Given the description of an element on the screen output the (x, y) to click on. 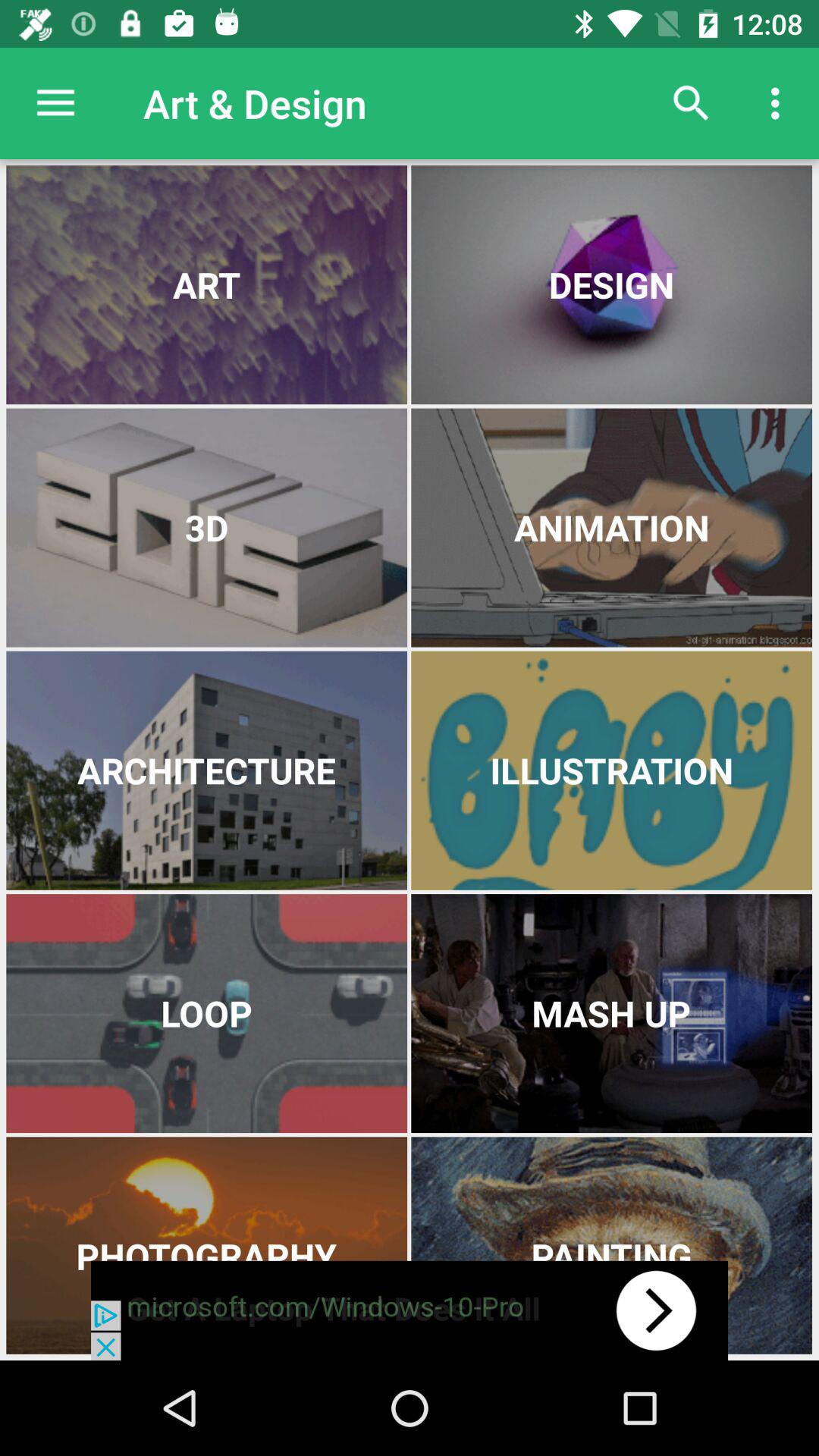
go to second position in the first row (611, 284)
select the image in which text mash up is written (611, 1012)
select the first image which is below the menu icon (206, 284)
